Given the description of an element on the screen output the (x, y) to click on. 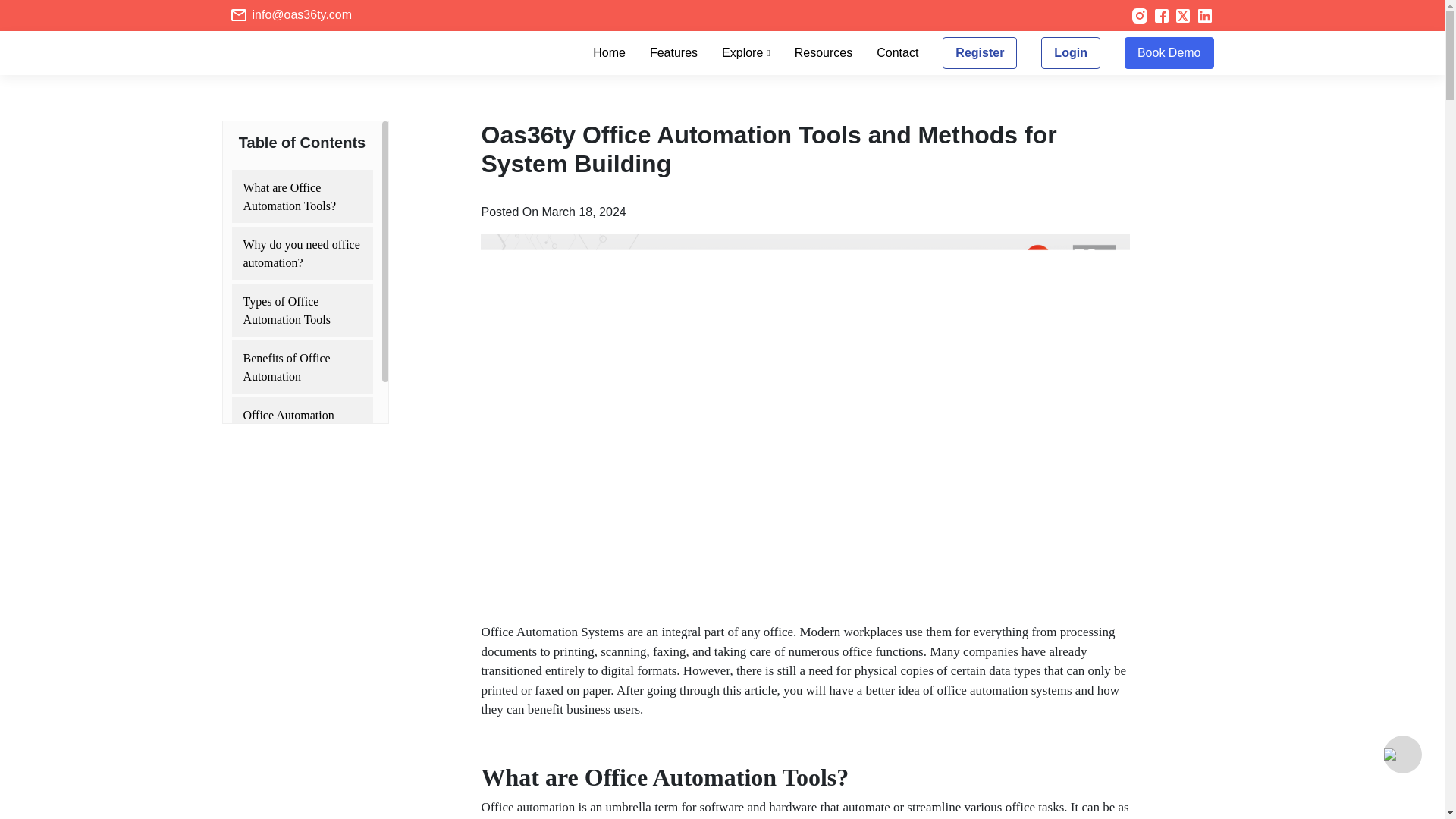
Explore (746, 53)
Types of Office Automation Tools (301, 309)
Why do you need office automation? (301, 253)
Book Demo (1169, 52)
What are Office Automation Tools? (301, 195)
Register (979, 52)
Home (609, 53)
Contact (897, 53)
Resources (822, 53)
Features (673, 53)
